Given the description of an element on the screen output the (x, y) to click on. 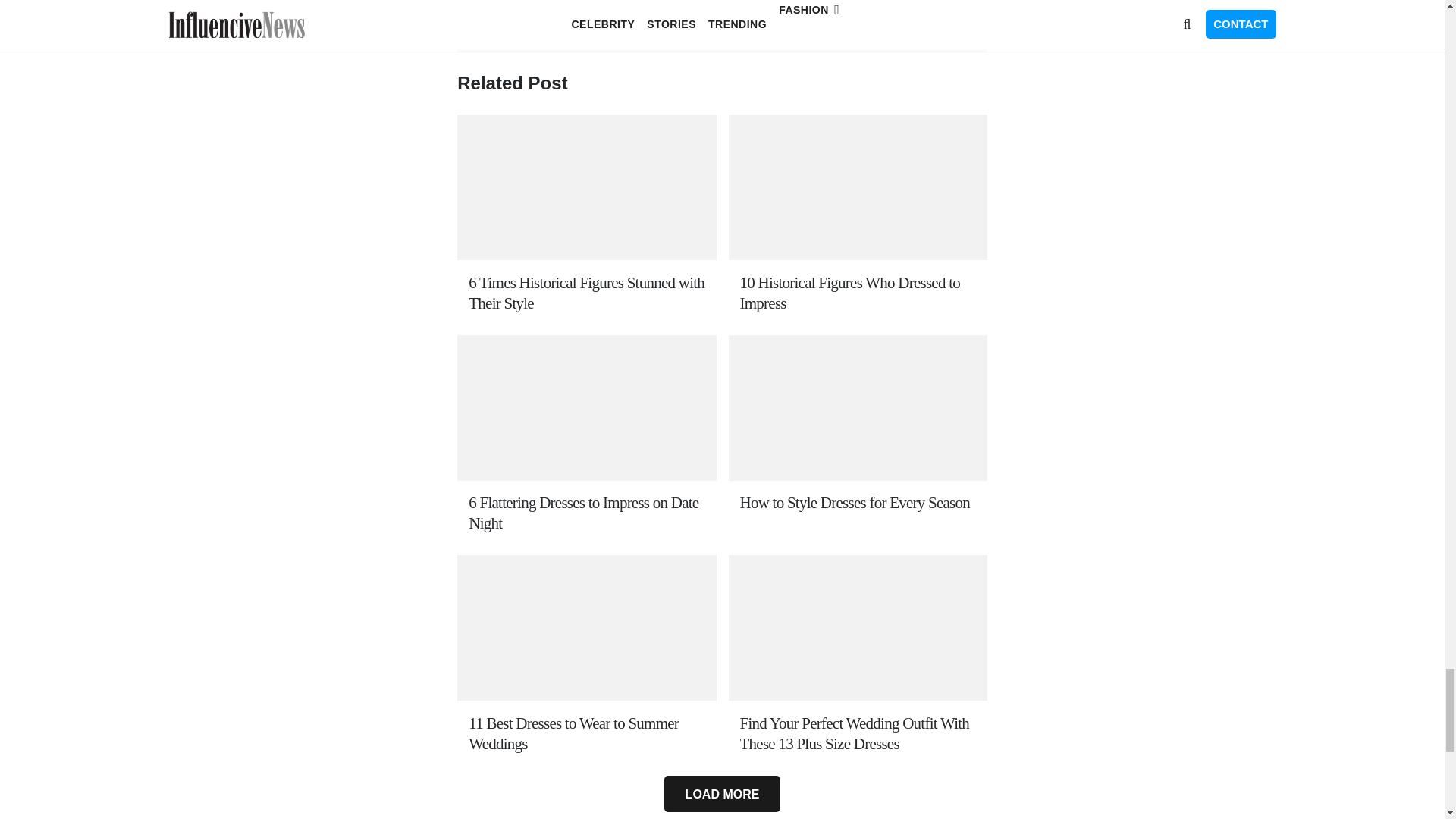
11 Best Dresses to Wear to Summer Weddings (586, 733)
LOAD MORE (720, 793)
10 Historical Figures Who Dressed to Impress (857, 292)
How to Style Dresses for Every Season (857, 503)
6 Times Historical Figures Stunned with Their Style (586, 292)
6 Flattering Dresses to Impress on Date Night (586, 513)
